Given the description of an element on the screen output the (x, y) to click on. 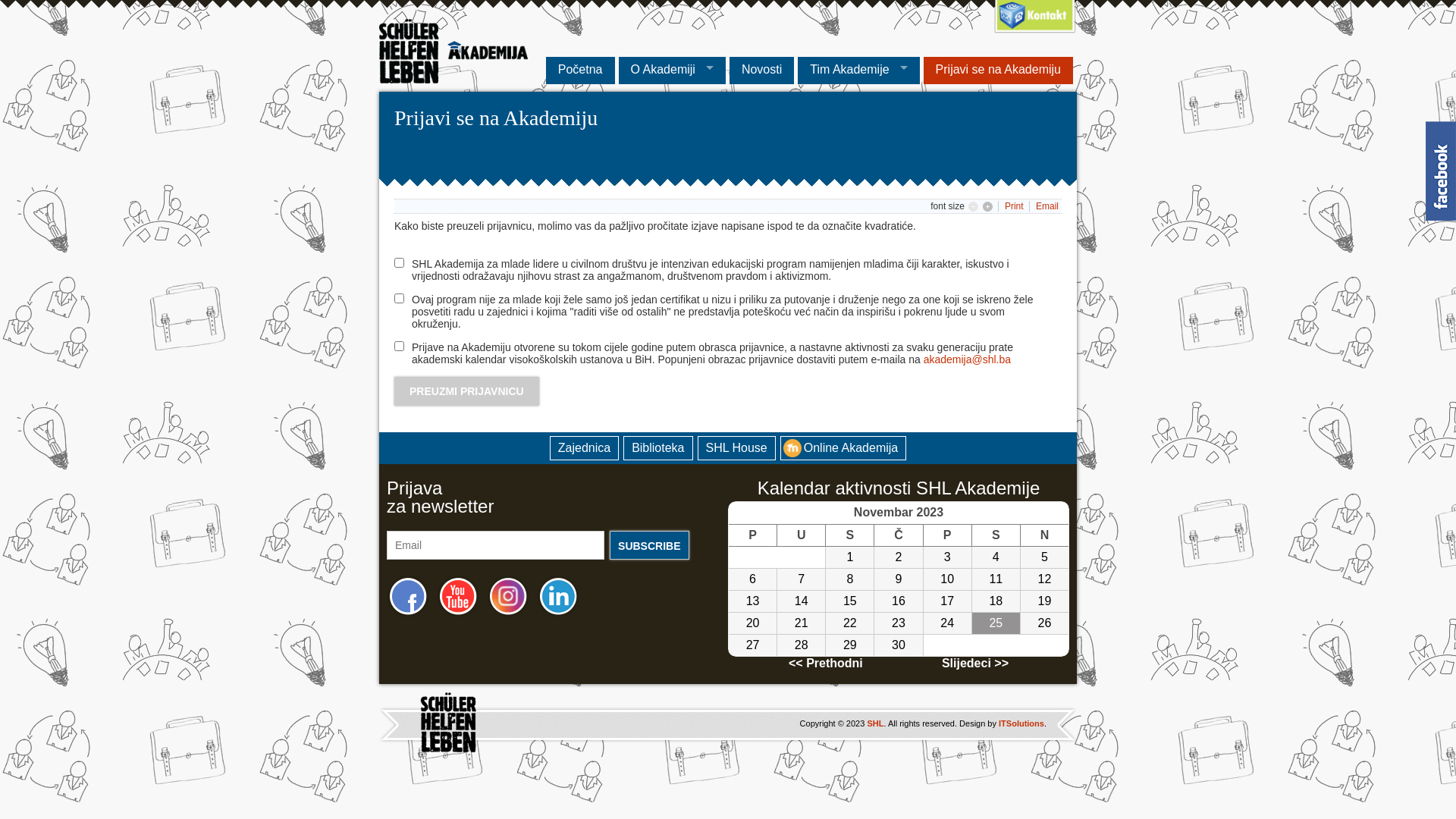
Subscribe Element type: text (648, 544)
SHL House Element type: text (736, 448)
Zajednica Element type: text (583, 448)
Tim Akademije Element type: text (858, 70)
SHL Element type: text (874, 723)
Email Element type: text (1046, 205)
Print Element type: text (1015, 205)
ITSolutions Element type: text (1021, 723)
PREUZMI PRIJAVNICU Element type: text (466, 390)
Biblioteka Element type: text (657, 448)
Prijavi se na Akademiju Element type: text (998, 70)
Novosti Element type: text (761, 70)
O Akademiji Element type: text (671, 70)
Online Akademija Element type: text (843, 448)
akademija@shl.ba Element type: text (966, 359)
